Given the description of an element on the screen output the (x, y) to click on. 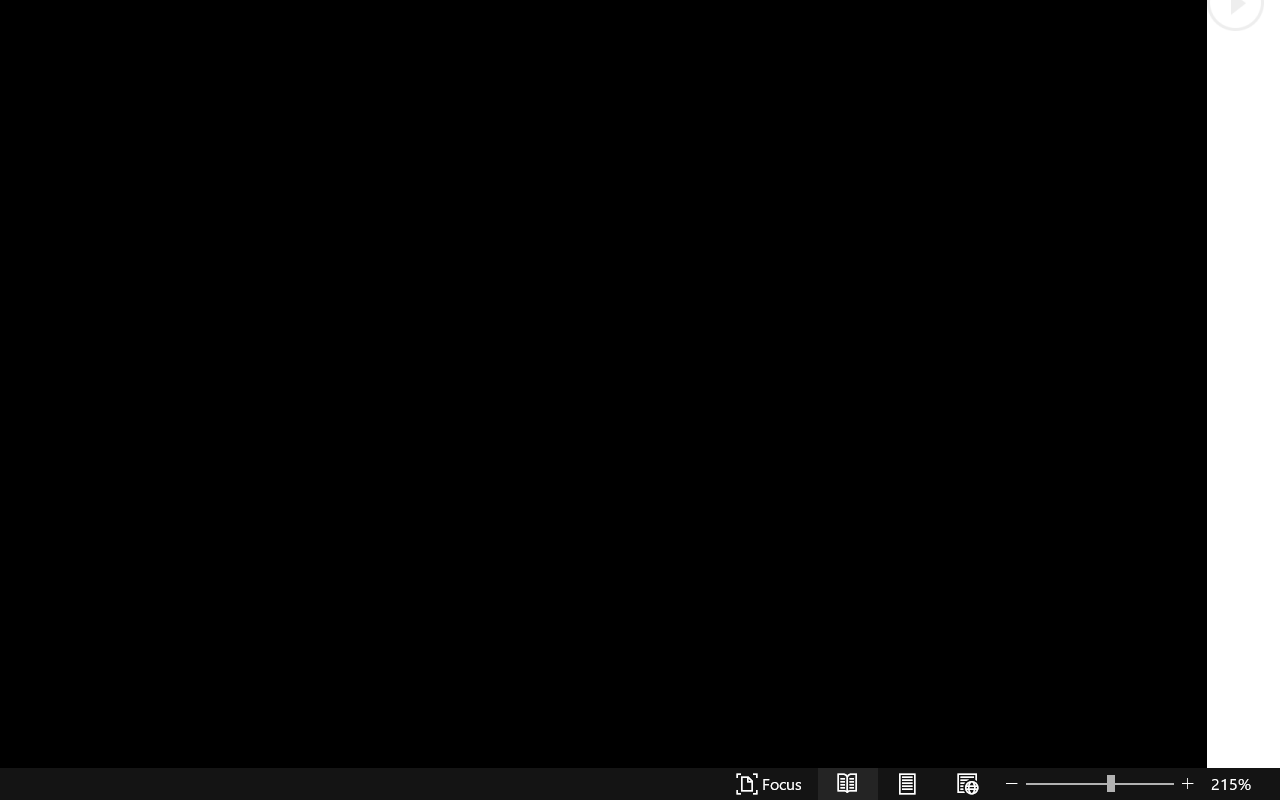
Zoom 95% (1234, 743)
